Given the description of an element on the screen output the (x, y) to click on. 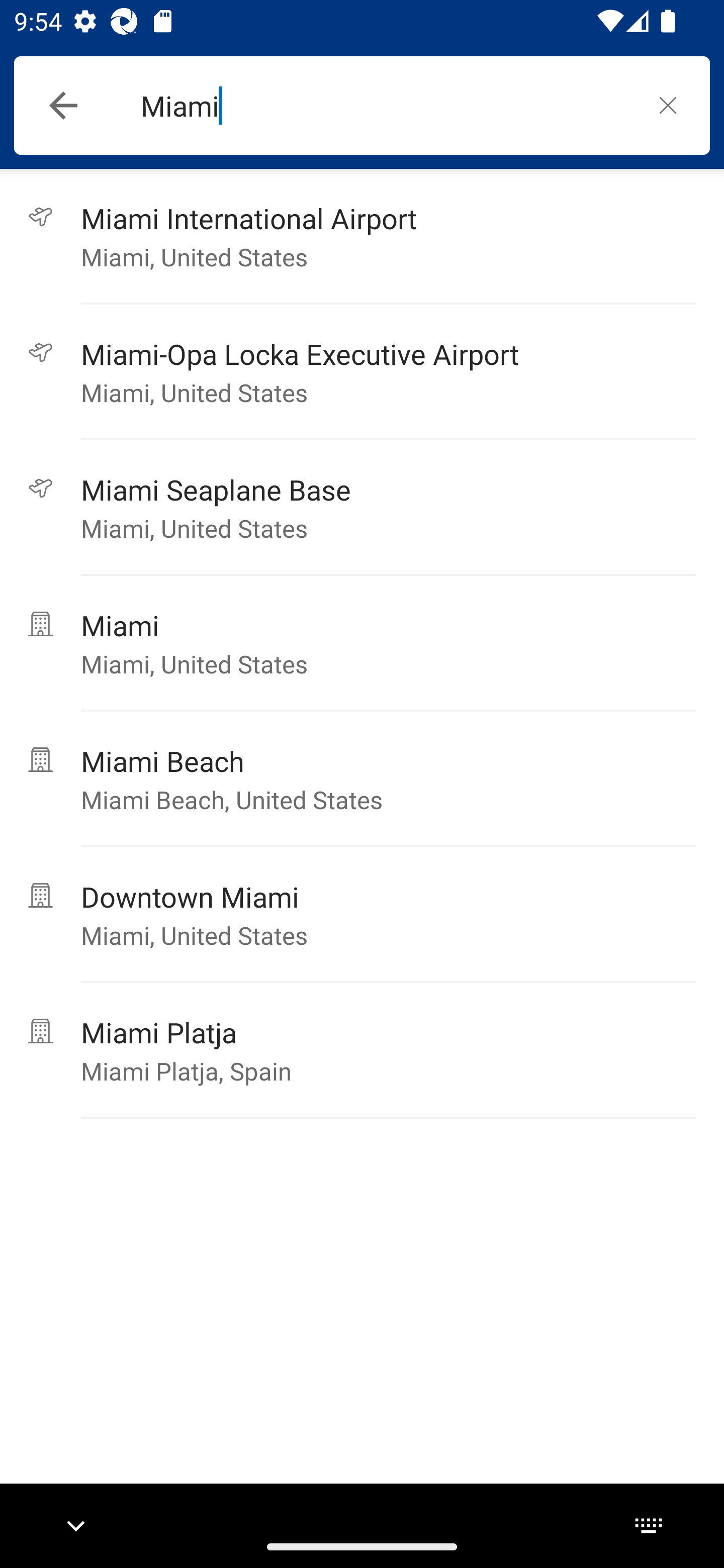
Navigate up (62, 105)
놕 (667, 104)
Miami (382, 105)
끭 Miami International Airport Miami, United States (362, 236)
끭 Miami Seaplane Base Miami, United States (362, 507)
넭 Miami Miami, United States (362, 643)
넭 Miami Beach Miami Beach, United States (362, 778)
넭 Downtown Miami Miami, United States (362, 914)
넭 Miami Platja Miami Platja, Spain (362, 1050)
